Given the description of an element on the screen output the (x, y) to click on. 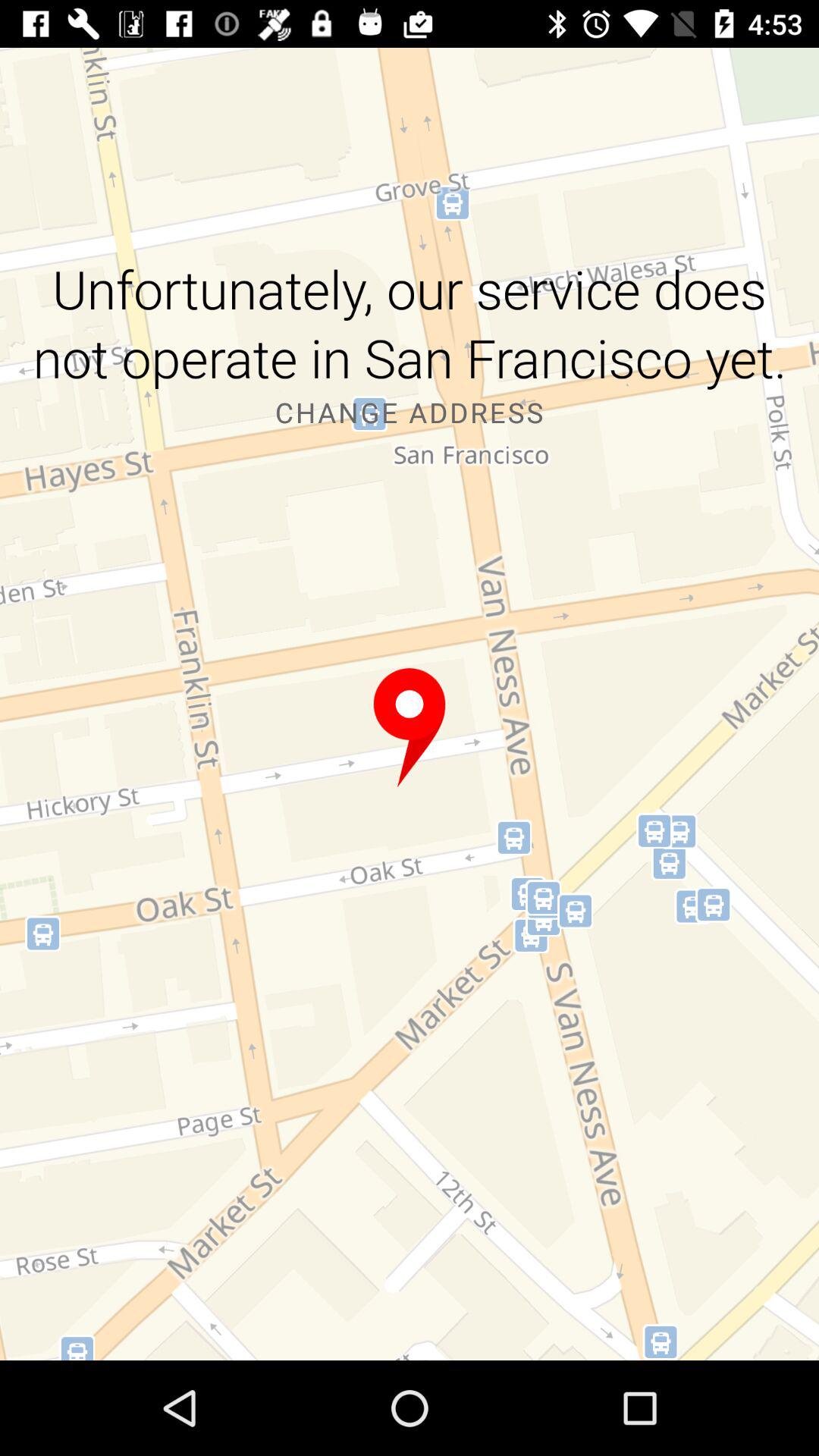
pin location (409, 727)
